Given the description of an element on the screen output the (x, y) to click on. 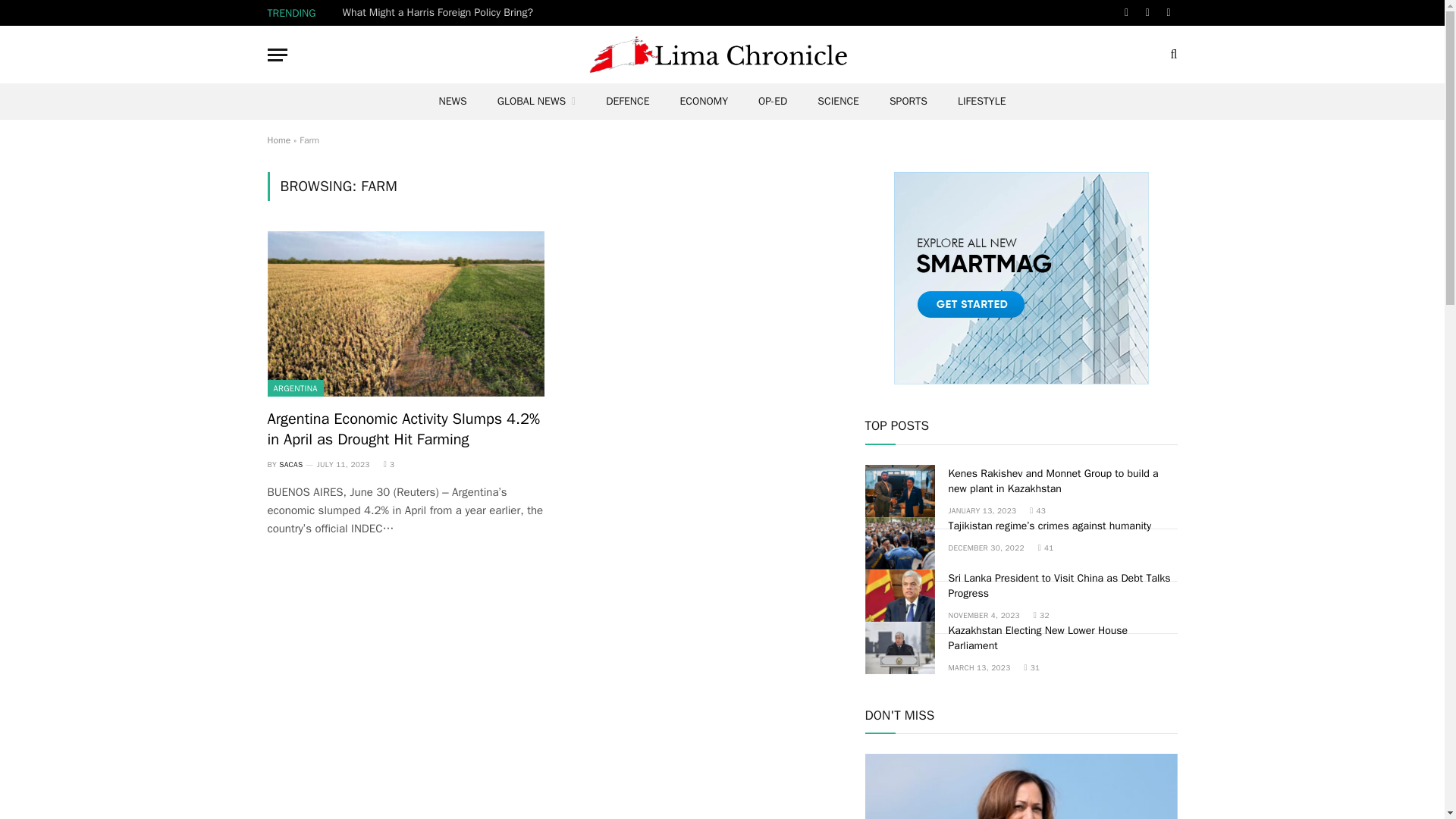
Lima Chronicle (722, 54)
Sri Lanka President to Visit China as Debt Talks Progress (899, 595)
43 Article Views (1037, 510)
Kazakhstan Electing New Lower House Parliament (899, 647)
32 Article Views (1041, 614)
3 Article Views (389, 464)
Posts by Sacas (290, 464)
41 Article Views (1046, 547)
